Given the description of an element on the screen output the (x, y) to click on. 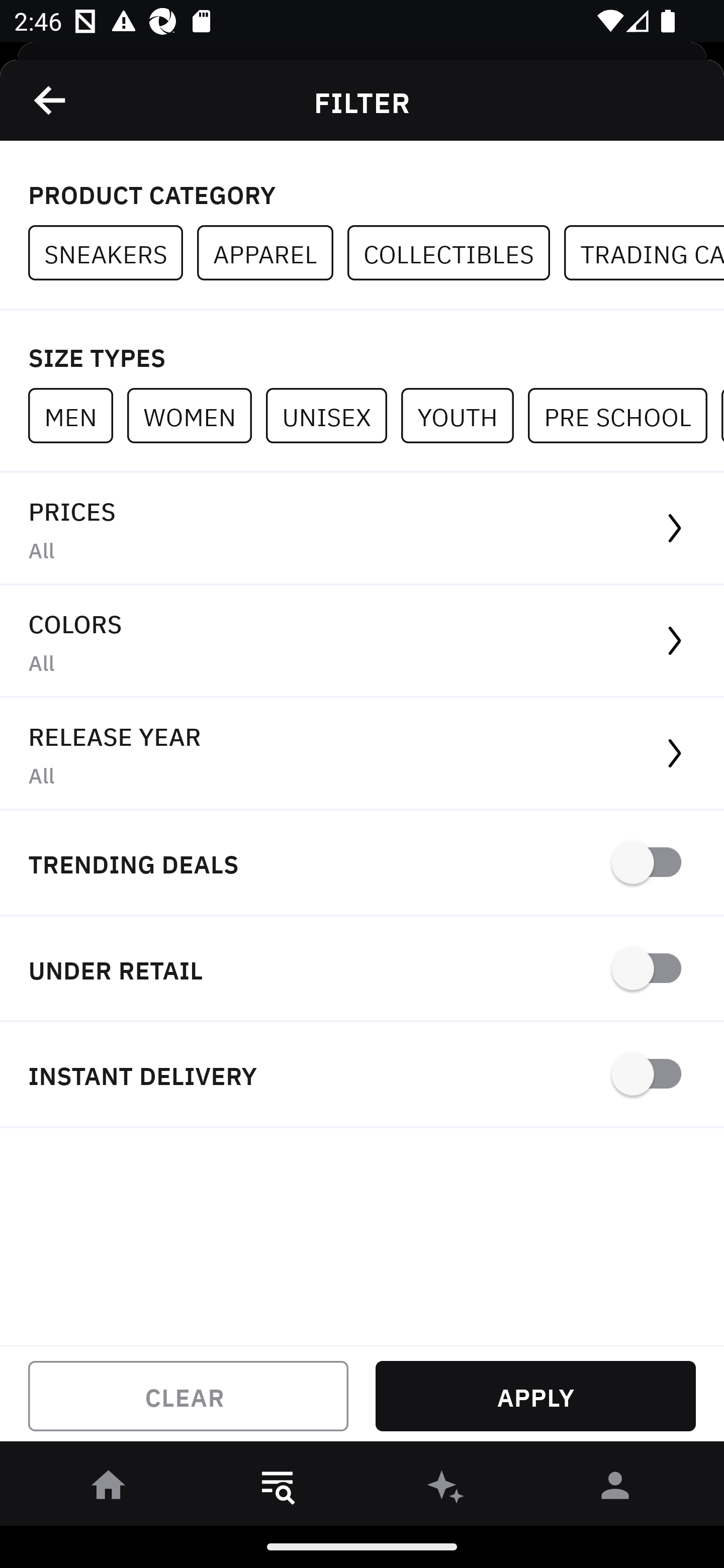
 (50, 100)
SNEAKERS (112, 252)
APPAREL (271, 252)
COLLECTIBLES (455, 252)
TRADING CARDS (643, 252)
MEN (77, 415)
WOMEN (196, 415)
UNISEX (333, 415)
YOUTH (464, 415)
PRE SCHOOL (624, 415)
PRICES All (362, 528)
COLORS All (362, 640)
RELEASE YEAR All (362, 753)
TRENDING DEALS (362, 863)
UNDER RETAIL (362, 969)
INSTANT DELIVERY (362, 1075)
CLEAR  (188, 1396)
APPLY (535, 1396)
󰋜 (108, 1488)
󱎸 (277, 1488)
󰫢 (446, 1488)
󰀄 (615, 1488)
